Given the description of an element on the screen output the (x, y) to click on. 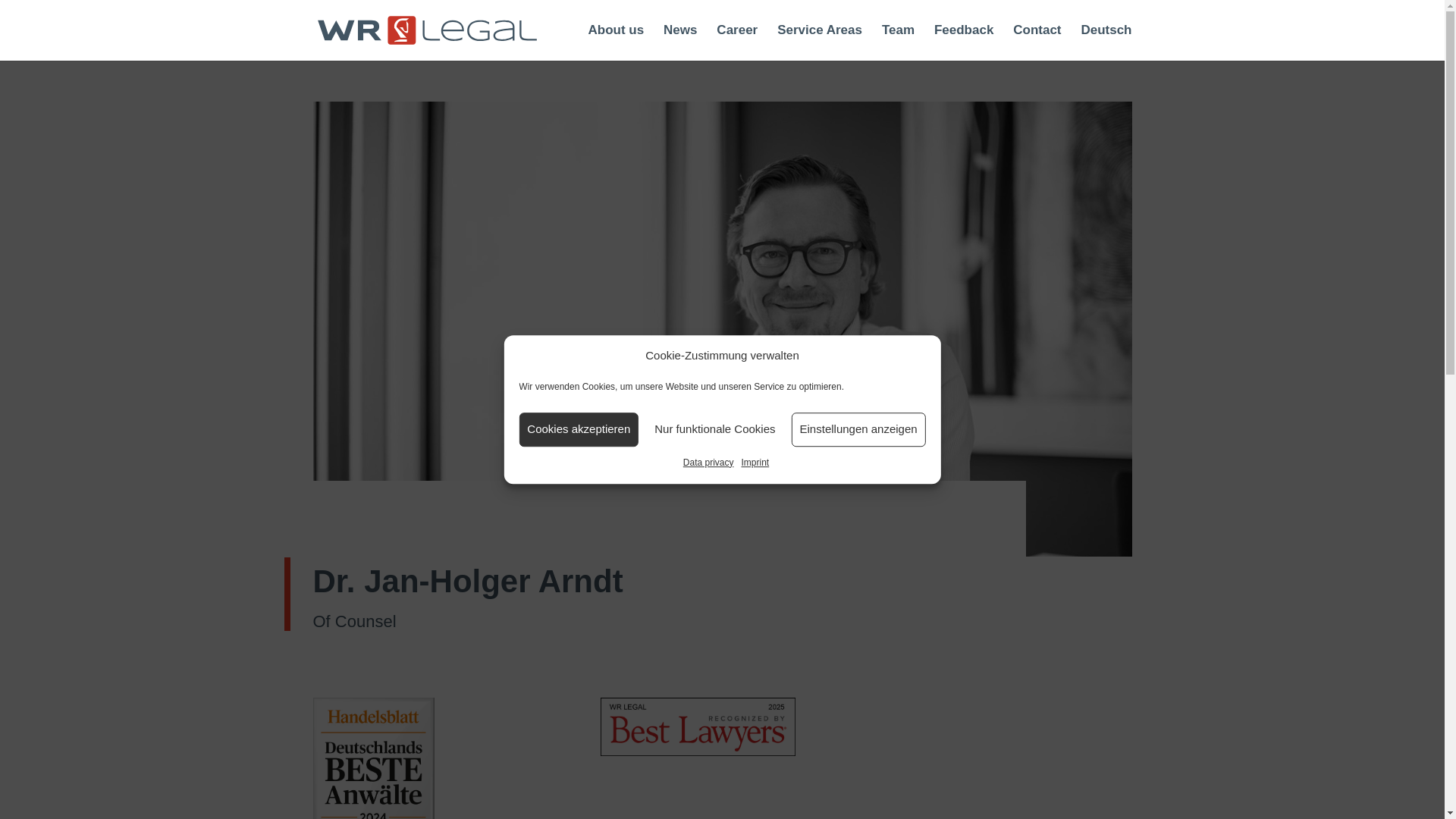
Feedback (963, 42)
Imprint (755, 463)
Einstellungen anzeigen (859, 429)
Service Areas (819, 42)
Career (736, 42)
183759 WR Legal (696, 726)
Nur funktionale Cookies (714, 429)
Cookies akzeptieren (578, 429)
Team (898, 42)
News (680, 42)
Data privacy (707, 463)
Contact (1037, 42)
Deutsch (1105, 42)
About us (616, 42)
